Given the description of an element on the screen output the (x, y) to click on. 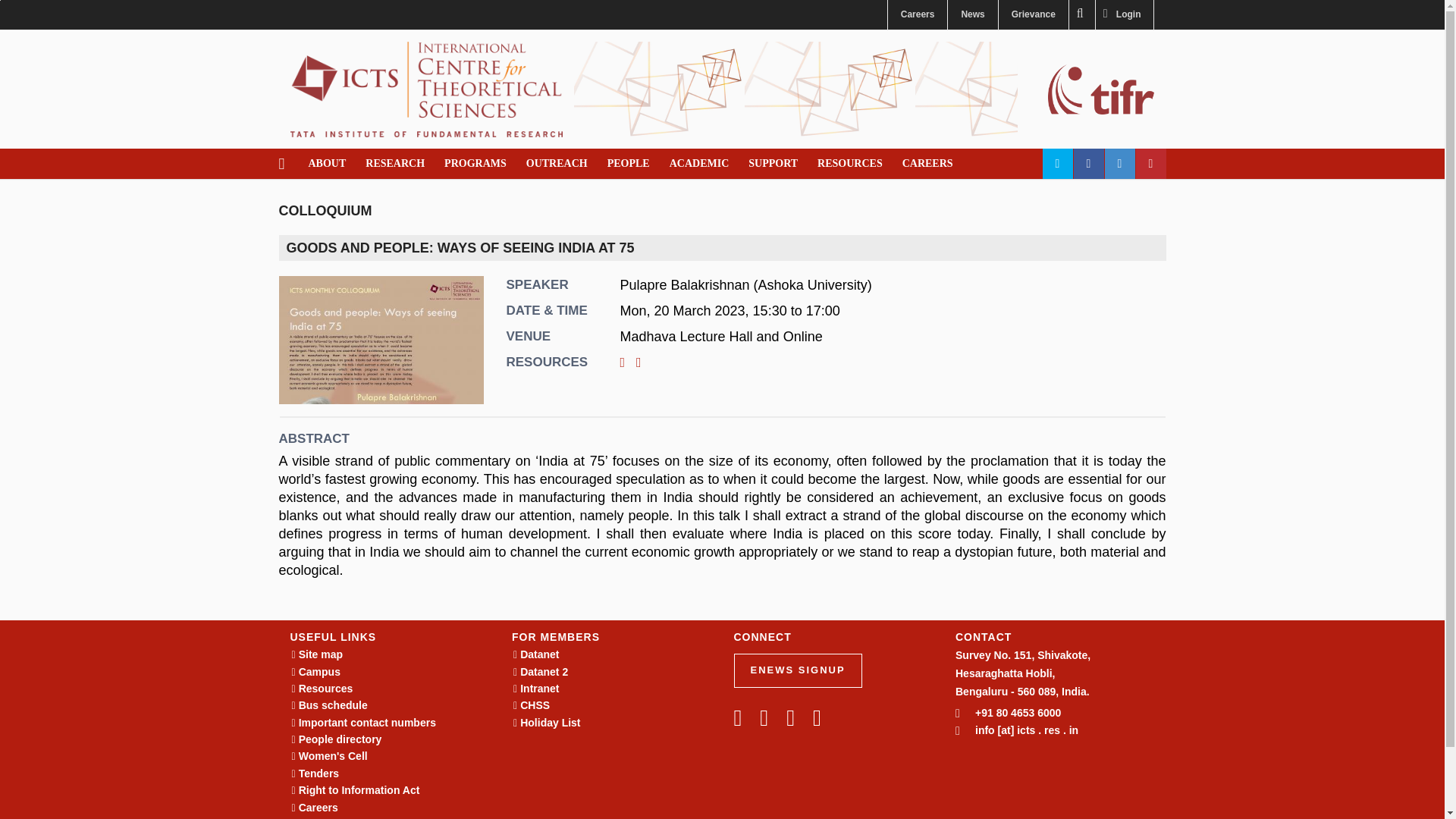
Home (425, 88)
